Given the description of an element on the screen output the (x, y) to click on. 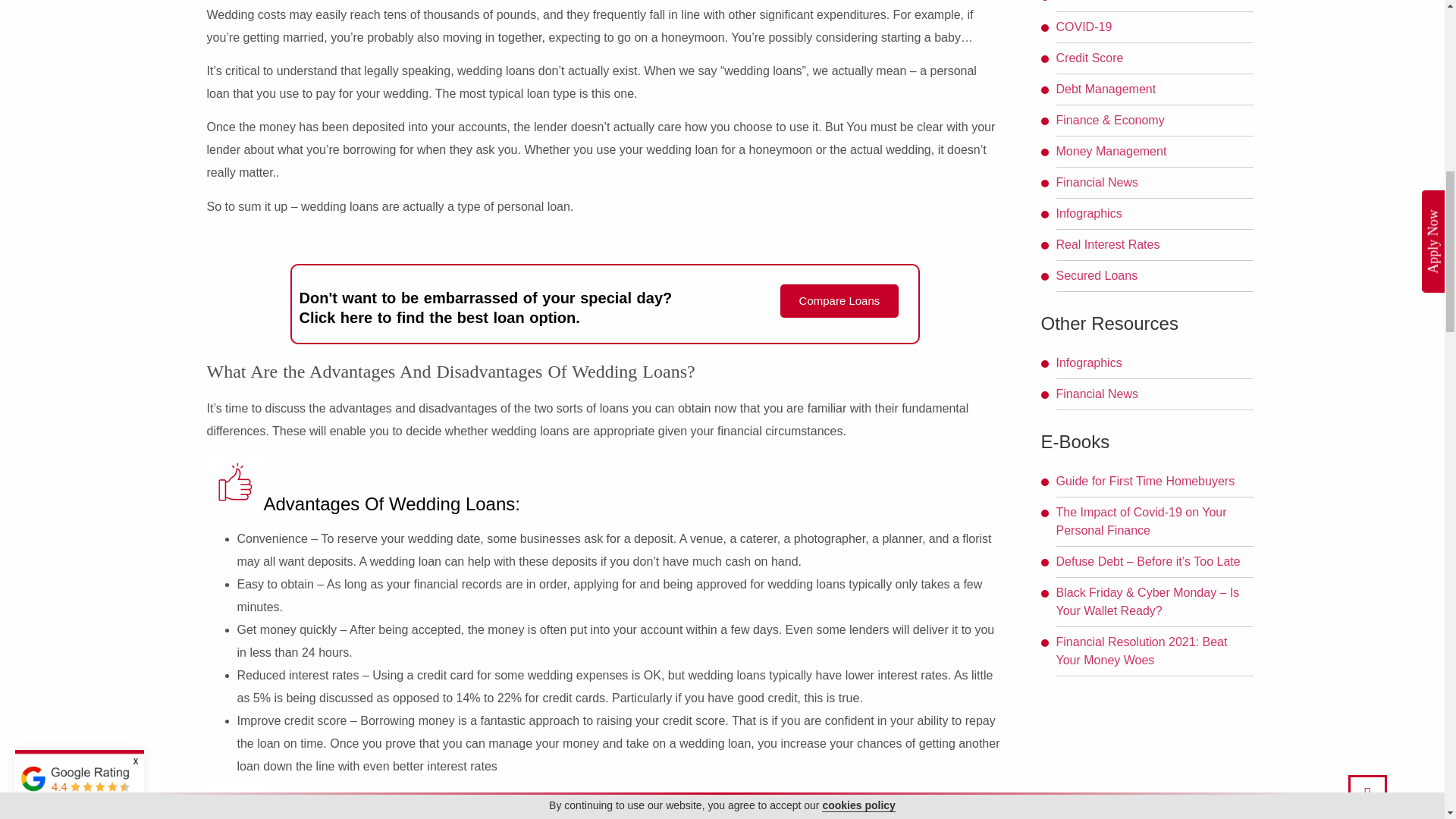
Ask Loantube (1092, 1)
